Given the description of an element on the screen output the (x, y) to click on. 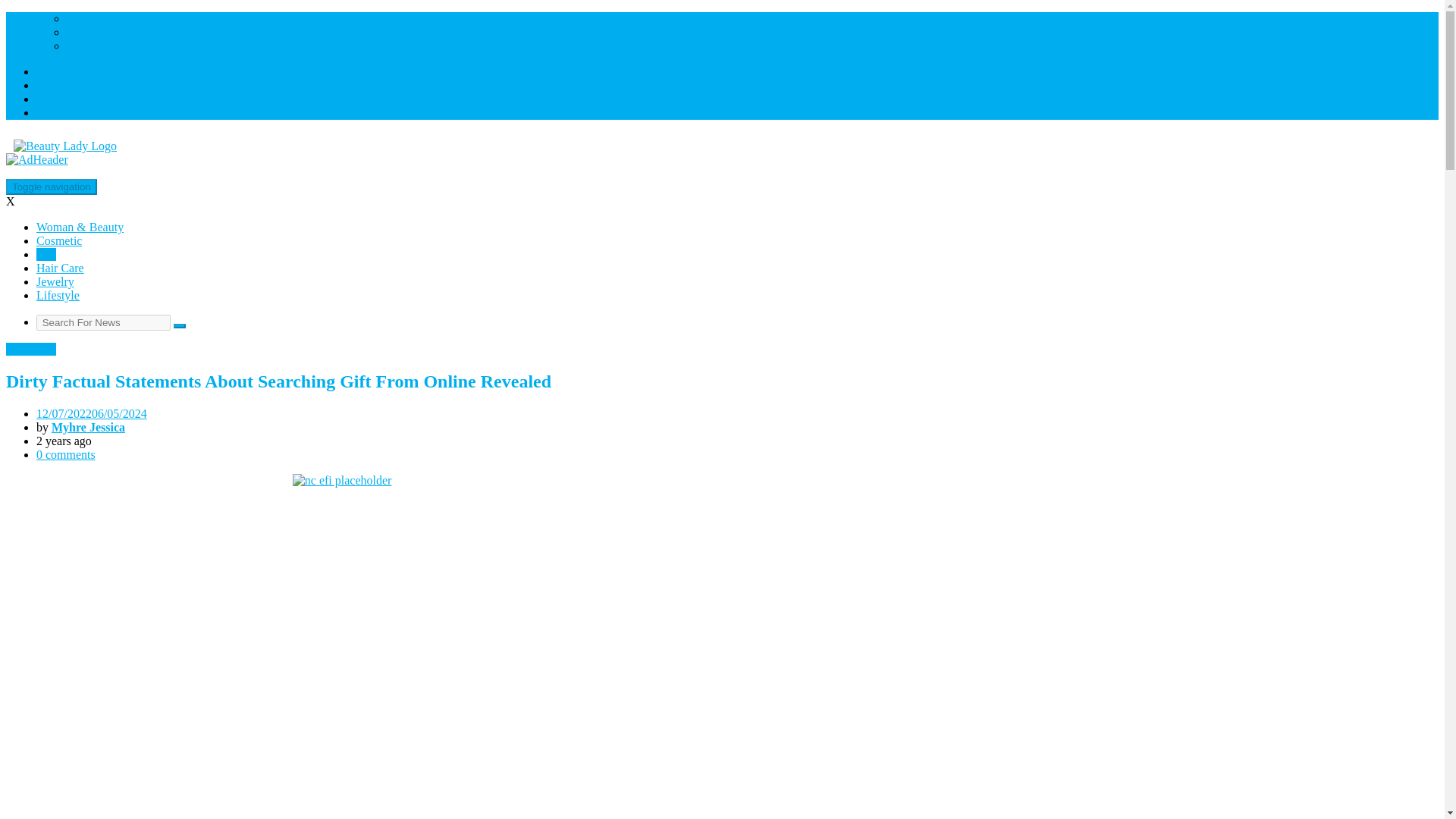
Sitemap (86, 45)
Jewelry (55, 281)
pinterest (57, 112)
0 comments (66, 454)
Myhre Jessica (87, 427)
Facebook (59, 71)
Disclosure Policy (109, 31)
Instagram (60, 84)
